Given the description of an element on the screen output the (x, y) to click on. 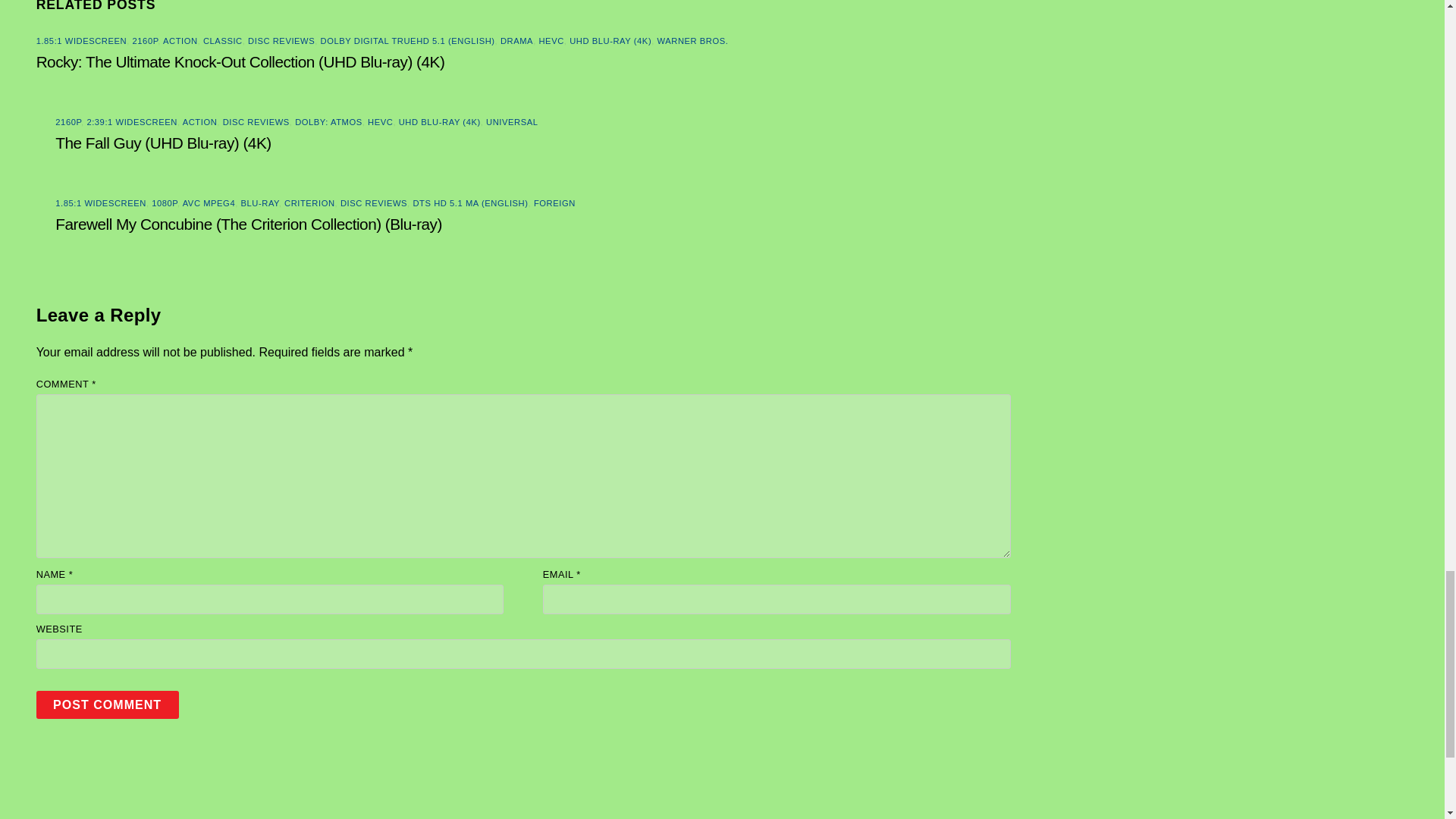
2160P (68, 121)
HEVC (380, 121)
WARNER BROS. (693, 40)
AVC MPEG4 (209, 203)
CLASSIC (223, 40)
HEVC (550, 40)
1.85:1 WIDESCREEN (101, 203)
1080P (164, 203)
UNIVERSAL (511, 121)
2:39:1 WIDESCREEN (131, 121)
